Given the description of an element on the screen output the (x, y) to click on. 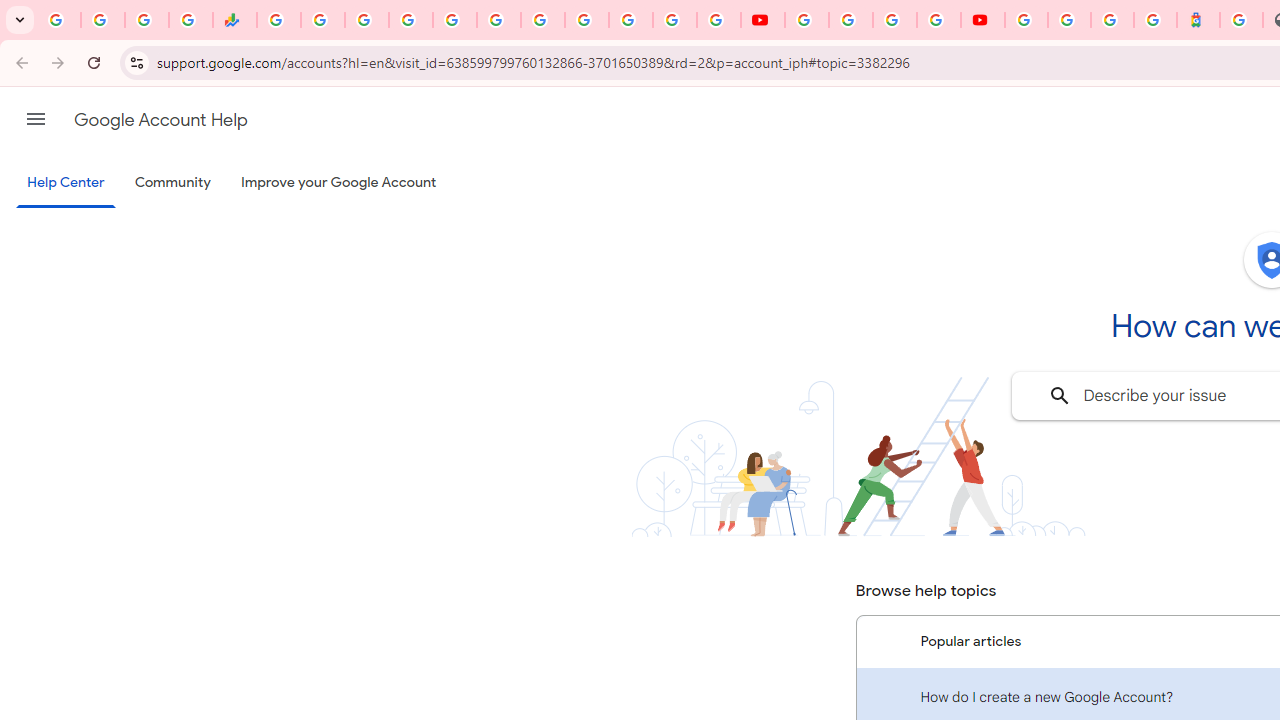
Content Creator Programs & Opportunities - YouTube Creators (982, 20)
Google Account Help (850, 20)
YouTube (806, 20)
Improve your Google Account (339, 183)
